Given the description of an element on the screen output the (x, y) to click on. 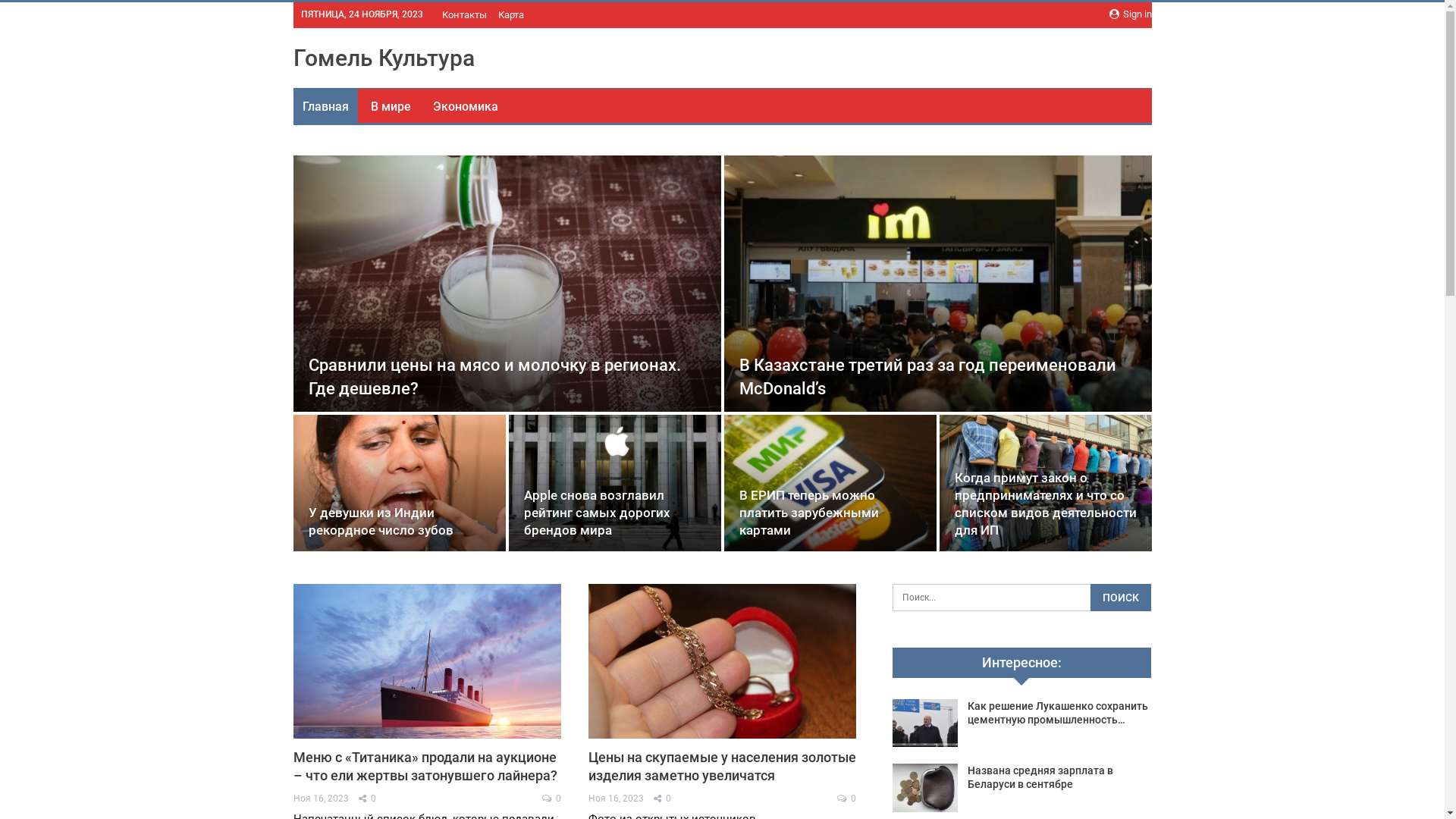
0 Element type: text (846, 798)
0 Element type: text (551, 798)
Sign in Element type: text (1129, 14)
